Given the description of an element on the screen output the (x, y) to click on. 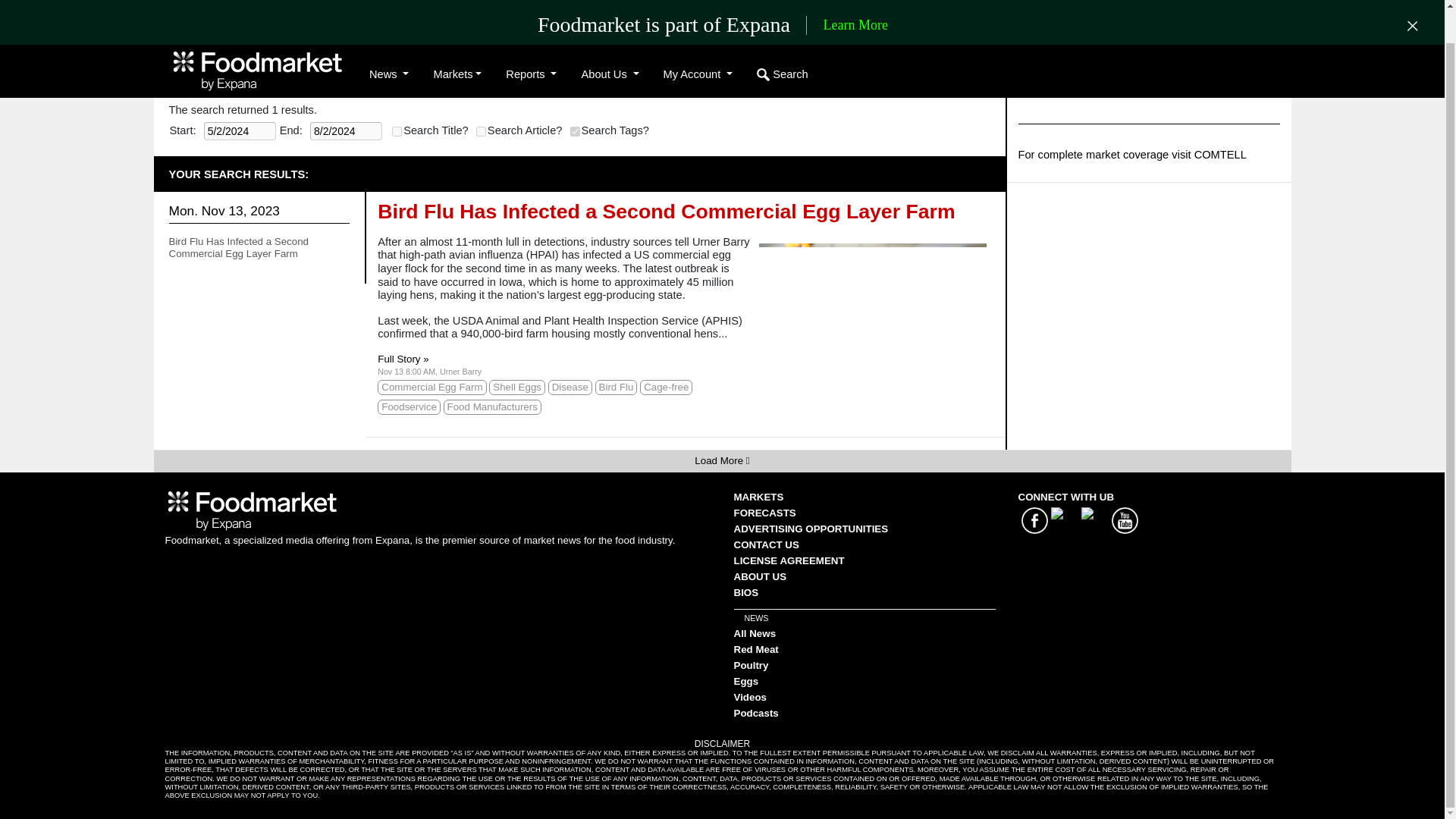
on (396, 131)
News (388, 40)
on (574, 131)
on (481, 131)
Reports (531, 40)
Markets (456, 40)
About Us (609, 40)
Bird Flu Has Infected a Second Commercial Egg Layer Farm (237, 247)
My Account (697, 40)
